Given the description of an element on the screen output the (x, y) to click on. 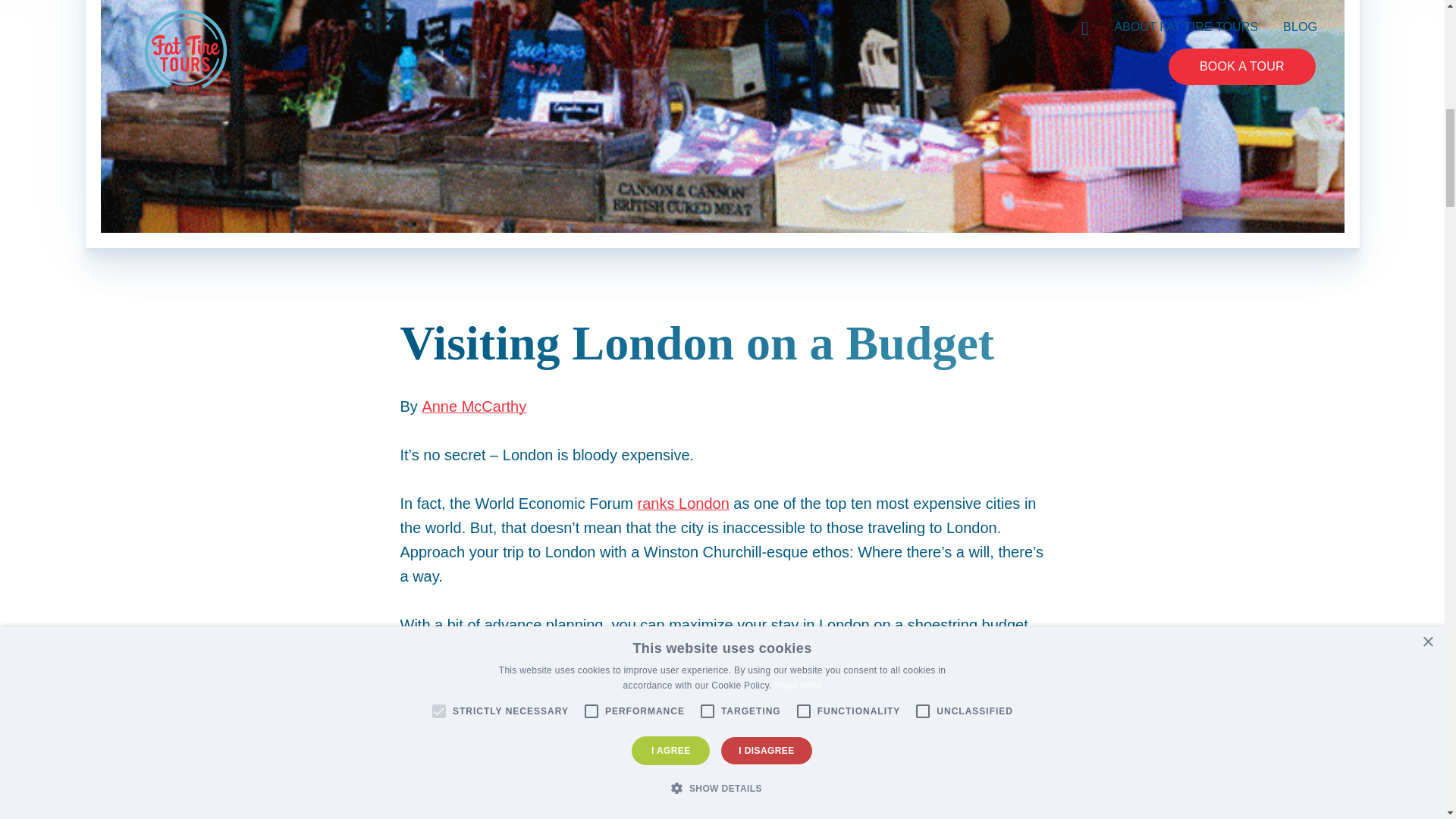
ranks London (683, 503)
budget hotel (782, 697)
London hostel (658, 697)
Anne McCarthy (473, 406)
